Given the description of an element on the screen output the (x, y) to click on. 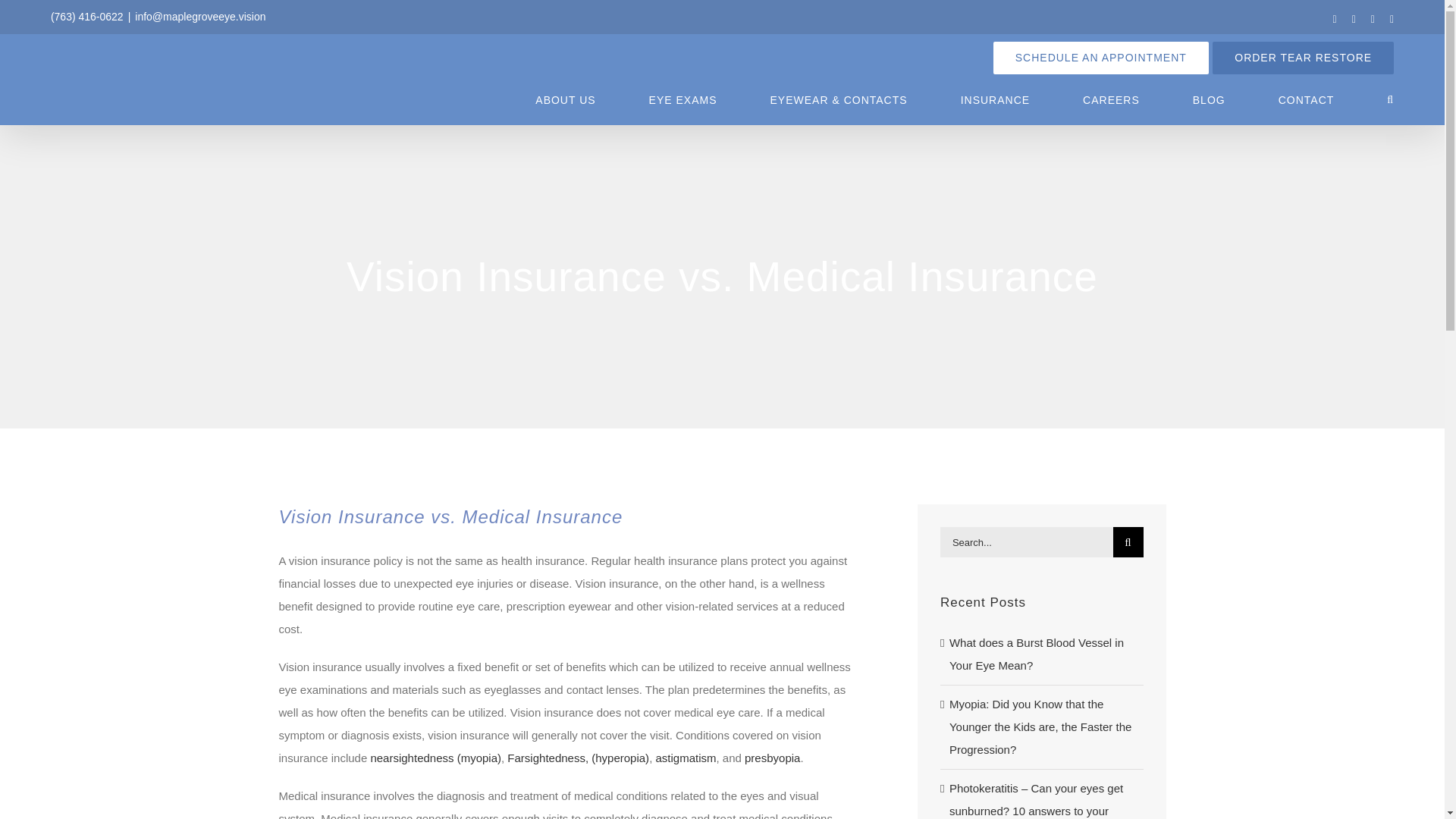
SCHEDULE AN APPOINTMENT (1100, 57)
INSURANCE (994, 99)
ORDER TEAR RESTORE (1302, 57)
EYE EXAMS (683, 99)
Hyperopia Information from Maple Grove Eye Doctors (577, 757)
Astigmatism information from Maple Grove Eye Doctors (685, 757)
presbyopia (771, 757)
Presbyopia information from Maple Grove Eye Doctors (771, 757)
CAREERS (1111, 99)
ABOUT US (565, 99)
